Given the description of an element on the screen output the (x, y) to click on. 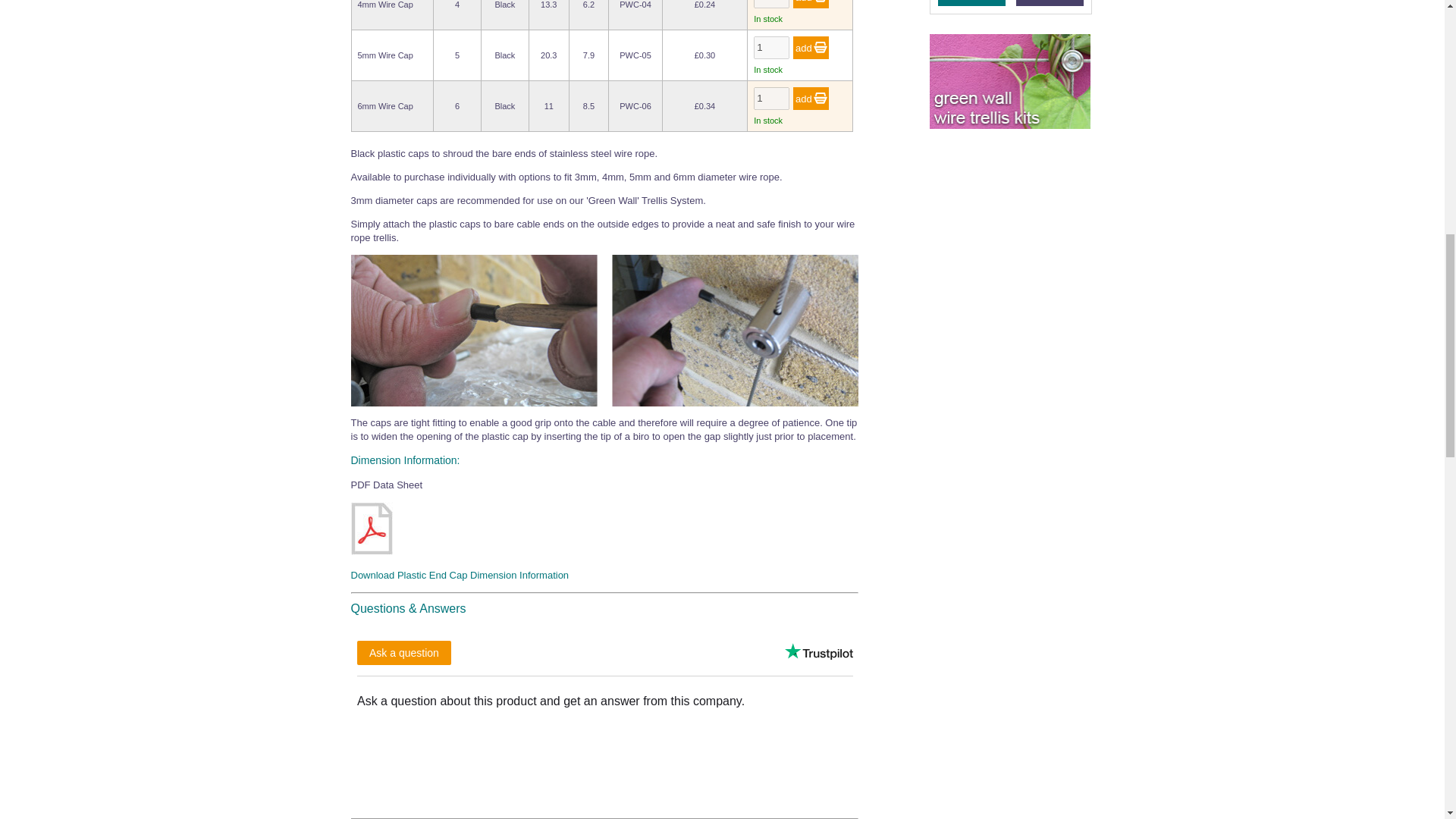
1 (771, 97)
Go (810, 97)
Go (810, 4)
1 (771, 47)
1 (771, 4)
Go (810, 47)
